Given the description of an element on the screen output the (x, y) to click on. 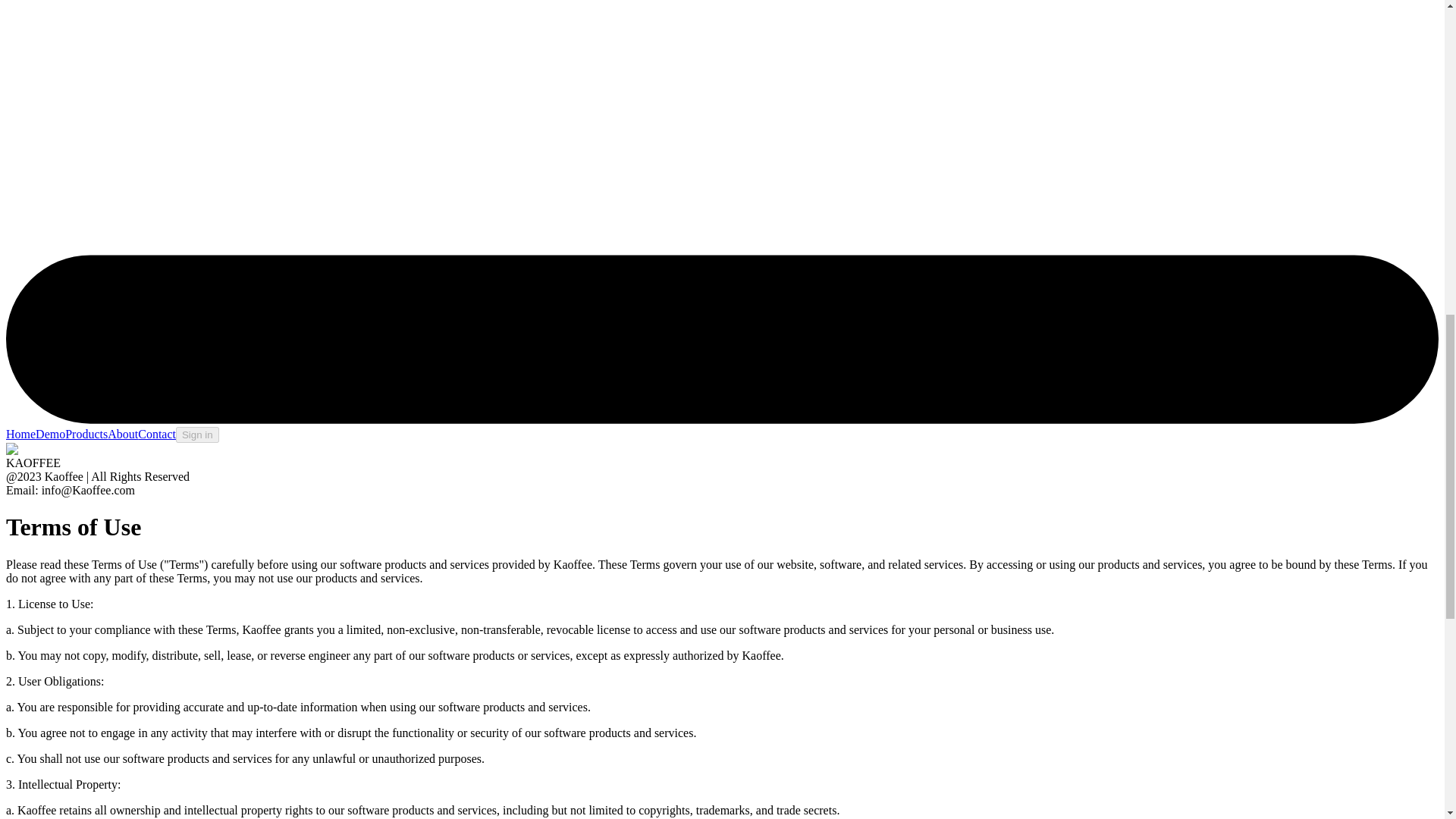
Contact (157, 433)
About (122, 433)
Sign in (197, 434)
Home (19, 433)
Demo (49, 433)
Products (86, 433)
